Given the description of an element on the screen output the (x, y) to click on. 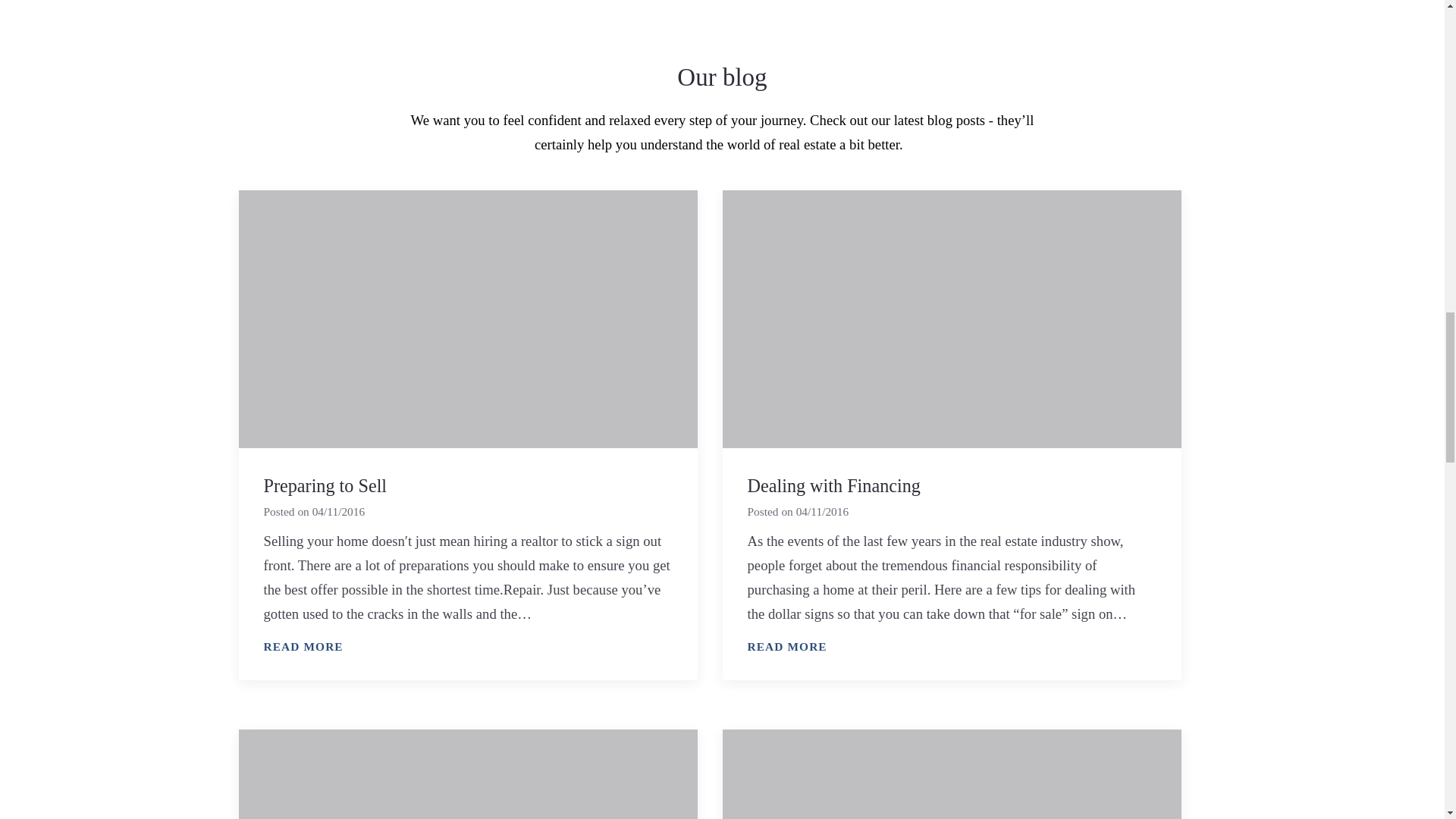
READ MORE (303, 646)
Dealing with Financing (834, 485)
Preparing to Sell (325, 485)
